Given the description of an element on the screen output the (x, y) to click on. 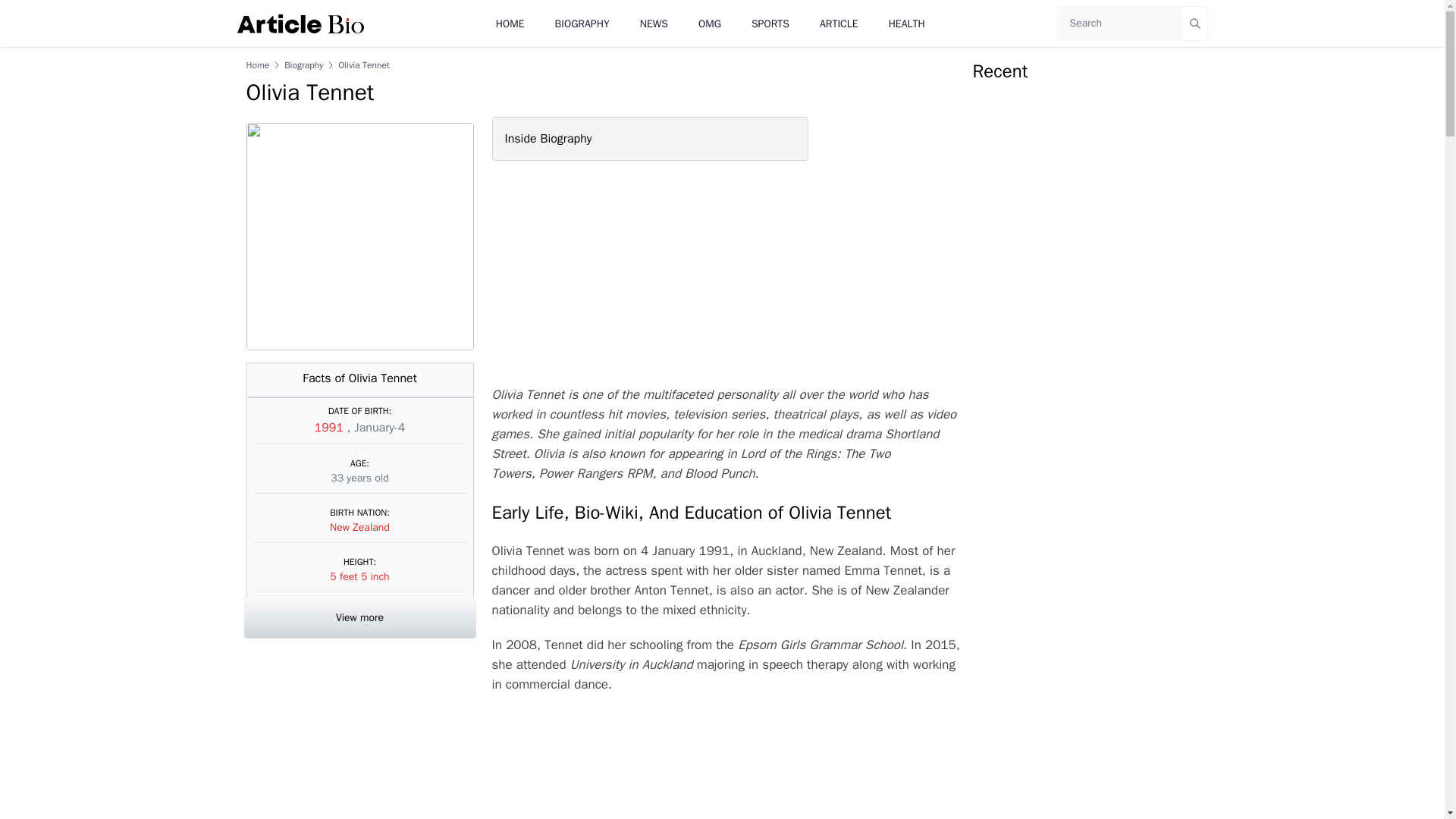
Biography (303, 64)
ARTICLE (839, 23)
1991 (330, 427)
New Zealand (360, 526)
HOME (510, 23)
BIOGRAPHY (582, 23)
Advertisement (721, 273)
OMG (709, 23)
January-4 (378, 427)
Home (257, 64)
SPORTS (770, 23)
5 feet 5 inch (359, 576)
HEALTH (906, 23)
Advertisement (725, 764)
NEWS (654, 23)
